Given the description of an element on the screen output the (x, y) to click on. 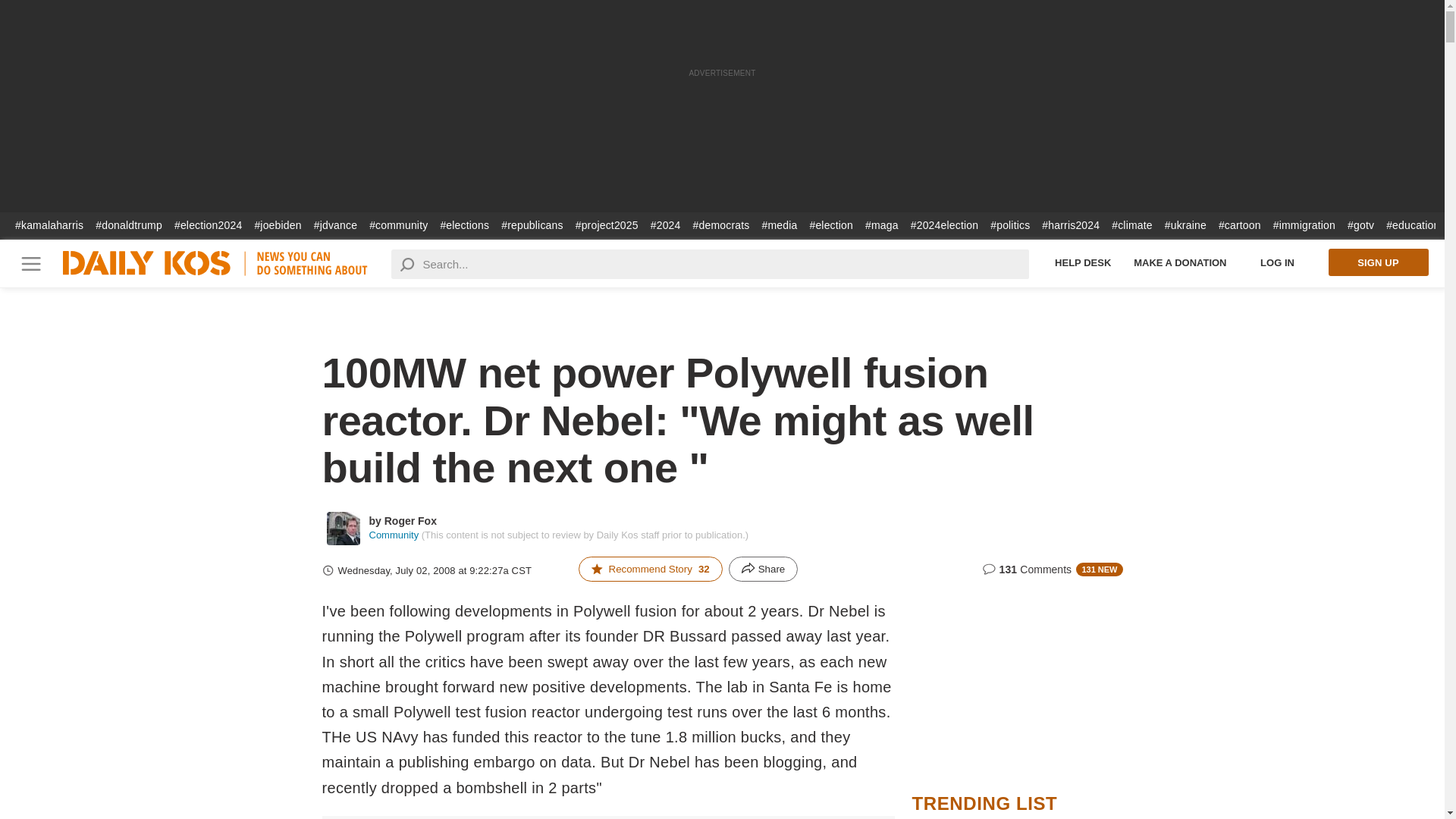
Help Desk (1082, 262)
Make a Donation (1179, 262)
MAKE A DONATION (1179, 262)
